Given the description of an element on the screen output the (x, y) to click on. 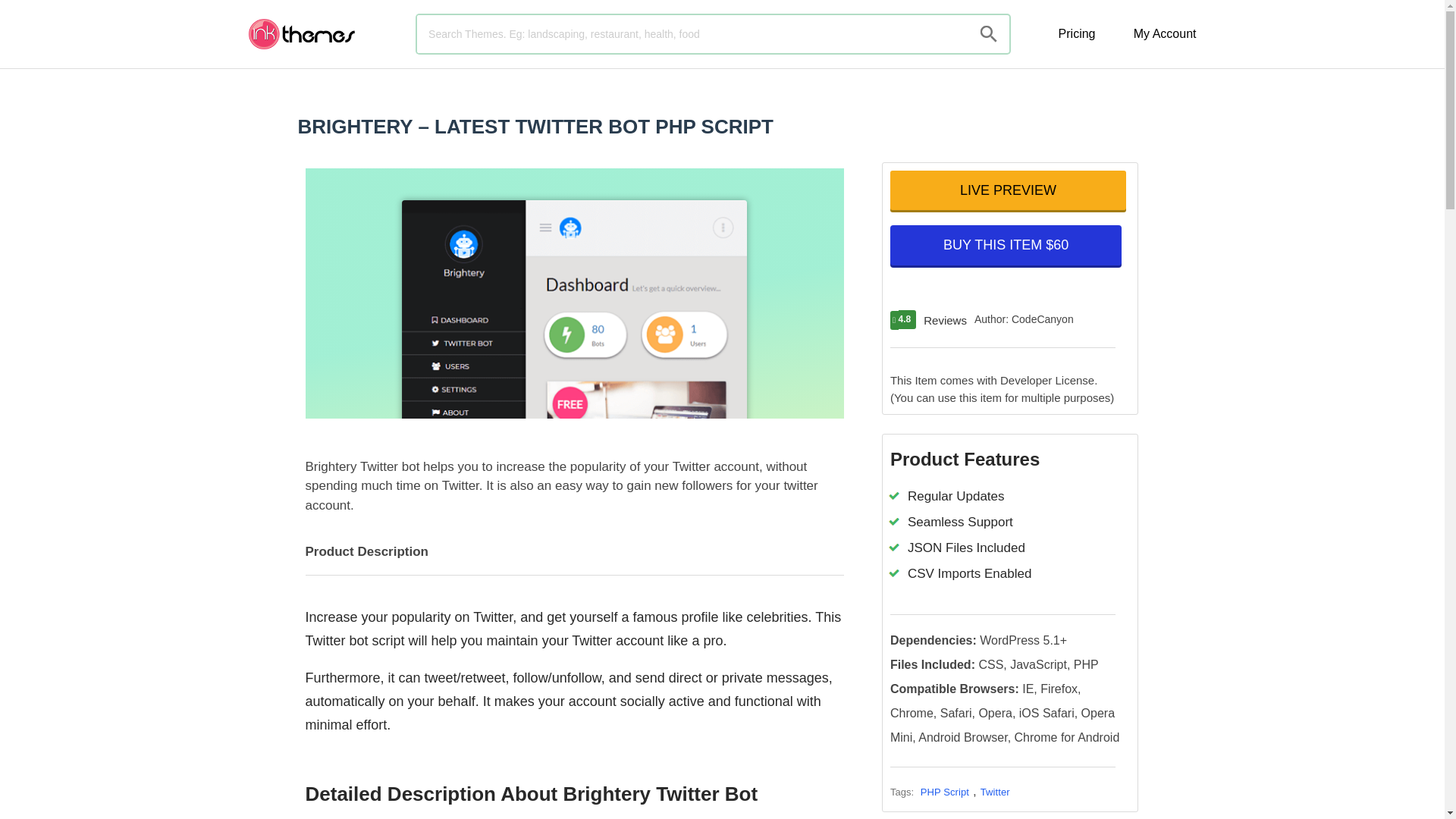
Pricing (1077, 33)
LIVE PREVIEW (1007, 189)
My Account (1165, 33)
PHP Script (944, 791)
Twitter (994, 791)
Twitter (994, 791)
PHP Script (944, 791)
